Given the description of an element on the screen output the (x, y) to click on. 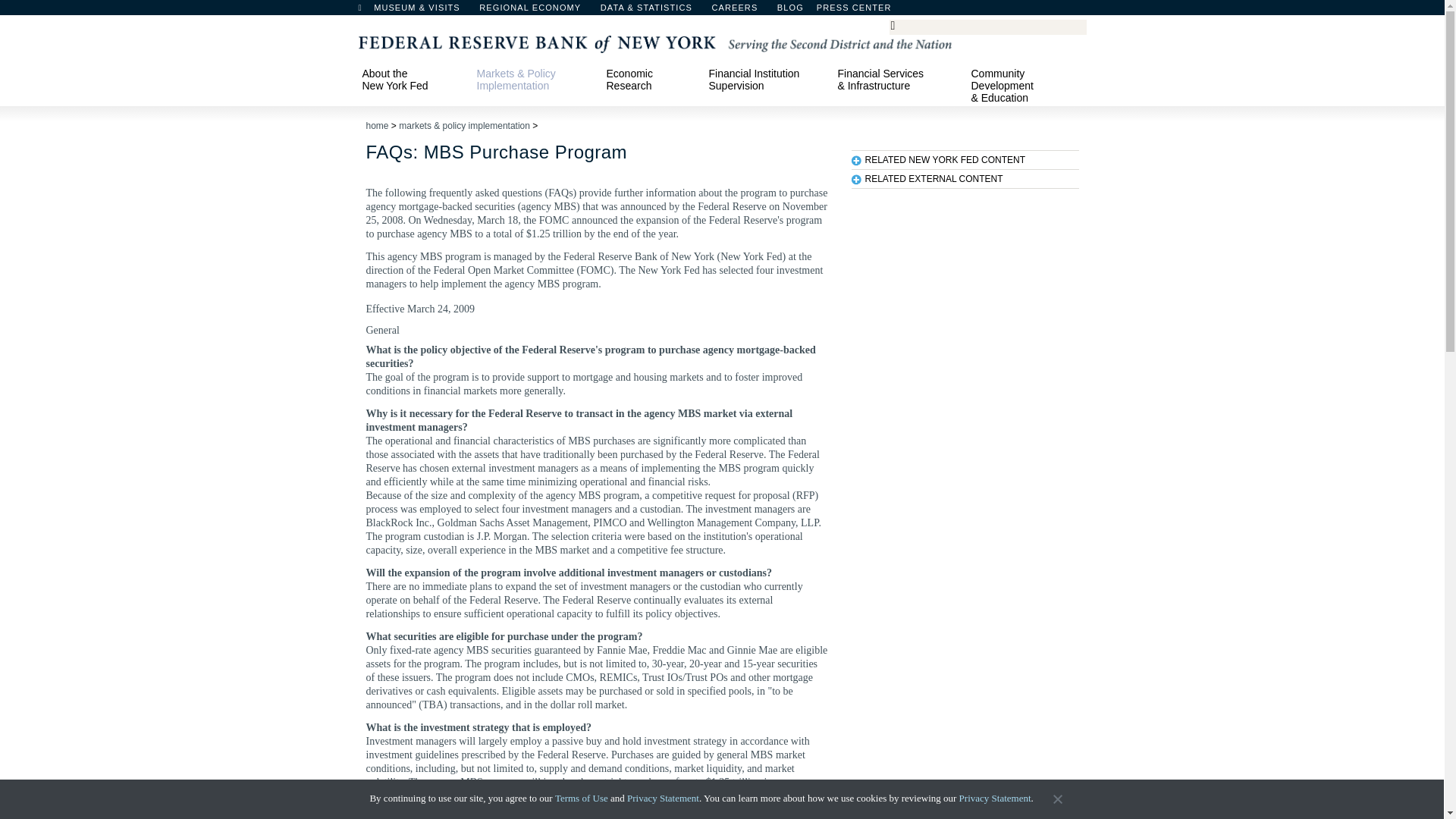
Regional Economy (537, 11)
Press Center (861, 11)
BLOG (830, 11)
About the New York Fed (411, 79)
Search Form (987, 27)
REGIONAL ECONOMY (537, 11)
About the New York Fed (411, 79)
Home (367, 11)
Search Box (985, 26)
Careers (742, 11)
